Given the description of an element on the screen output the (x, y) to click on. 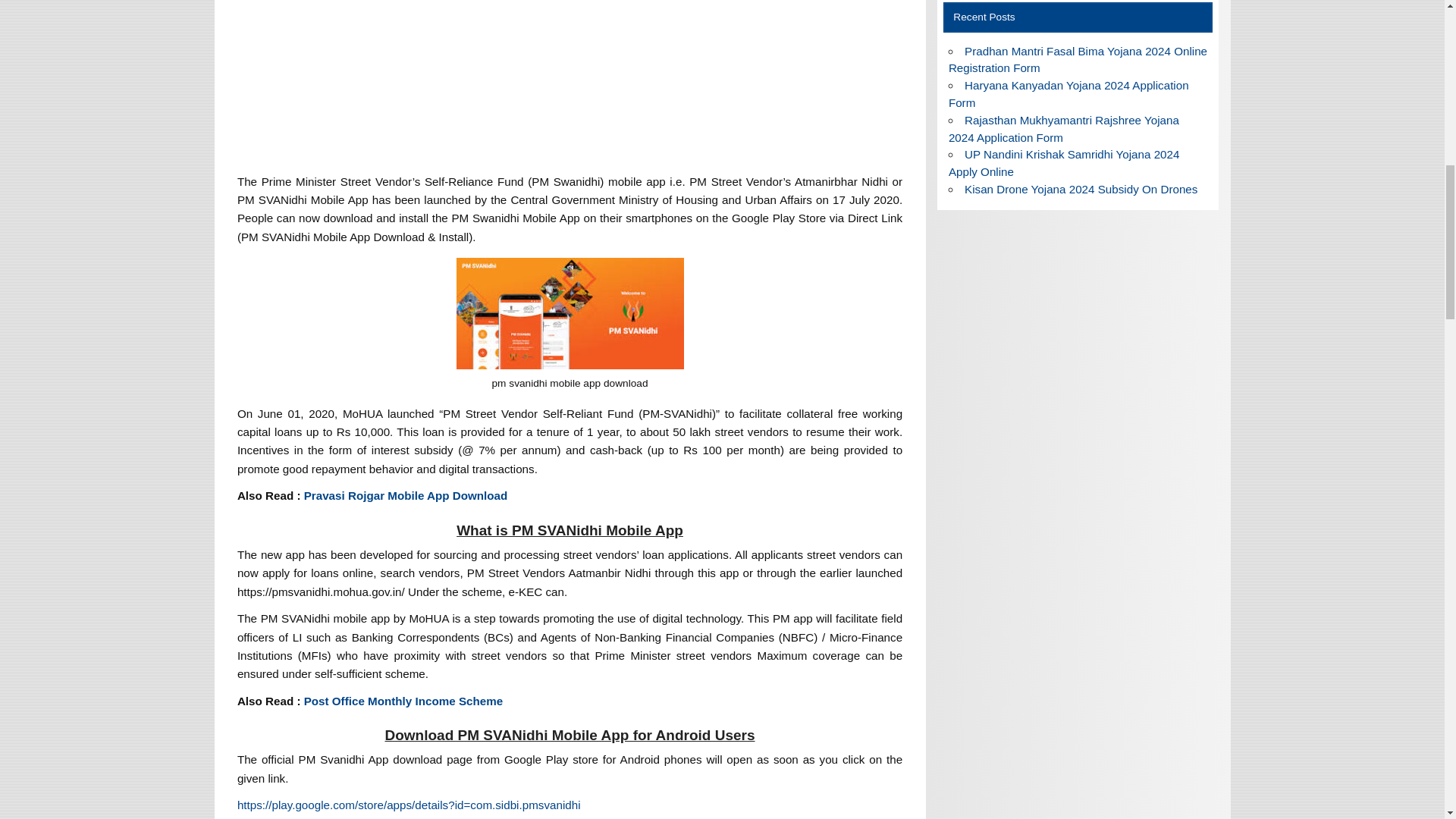
Advertisement (569, 81)
